Given the description of an element on the screen output the (x, y) to click on. 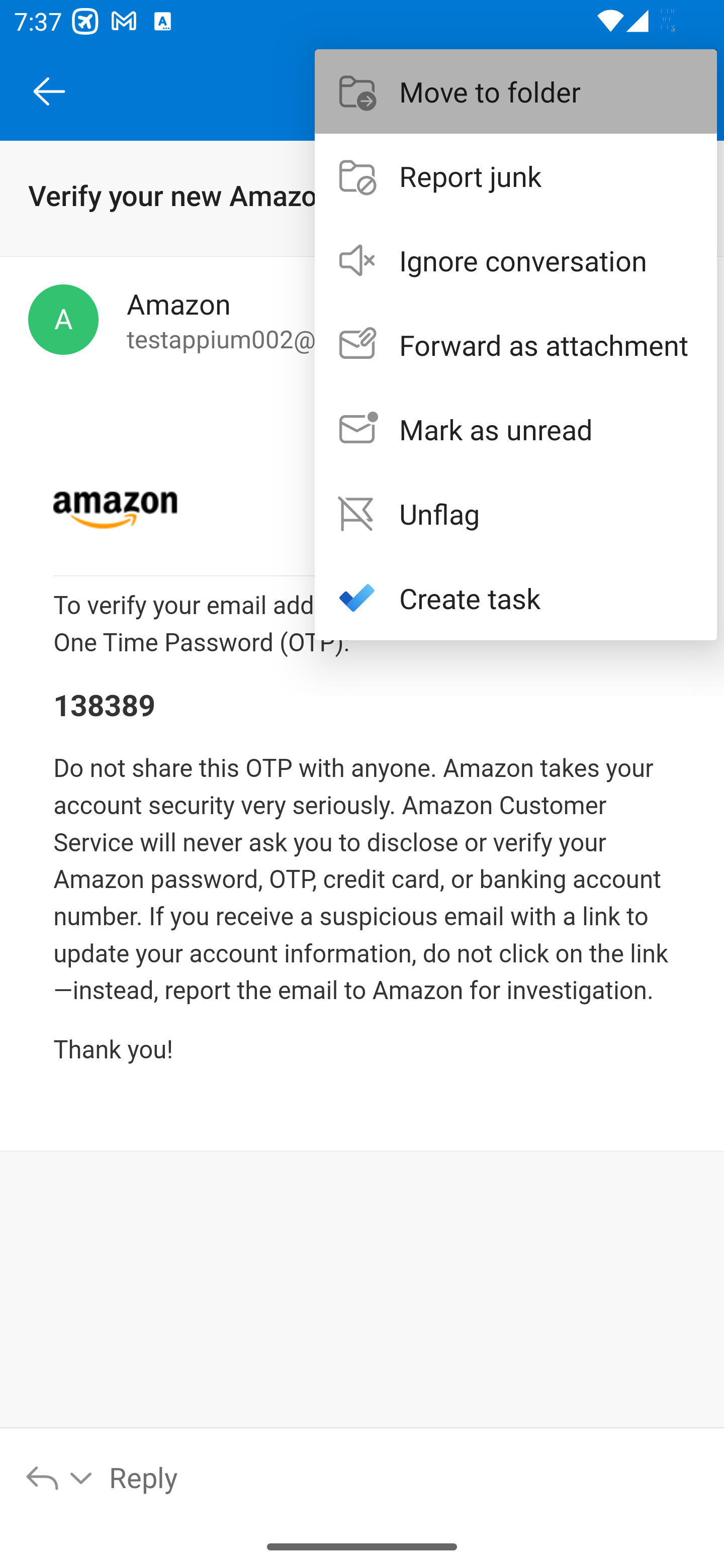
Move to folder (515, 90)
Report junk (515, 175)
Ignore conversation (515, 259)
Forward as attachment (515, 344)
Mark as unread (515, 429)
Unflag (515, 513)
Create task (515, 597)
